Given the description of an element on the screen output the (x, y) to click on. 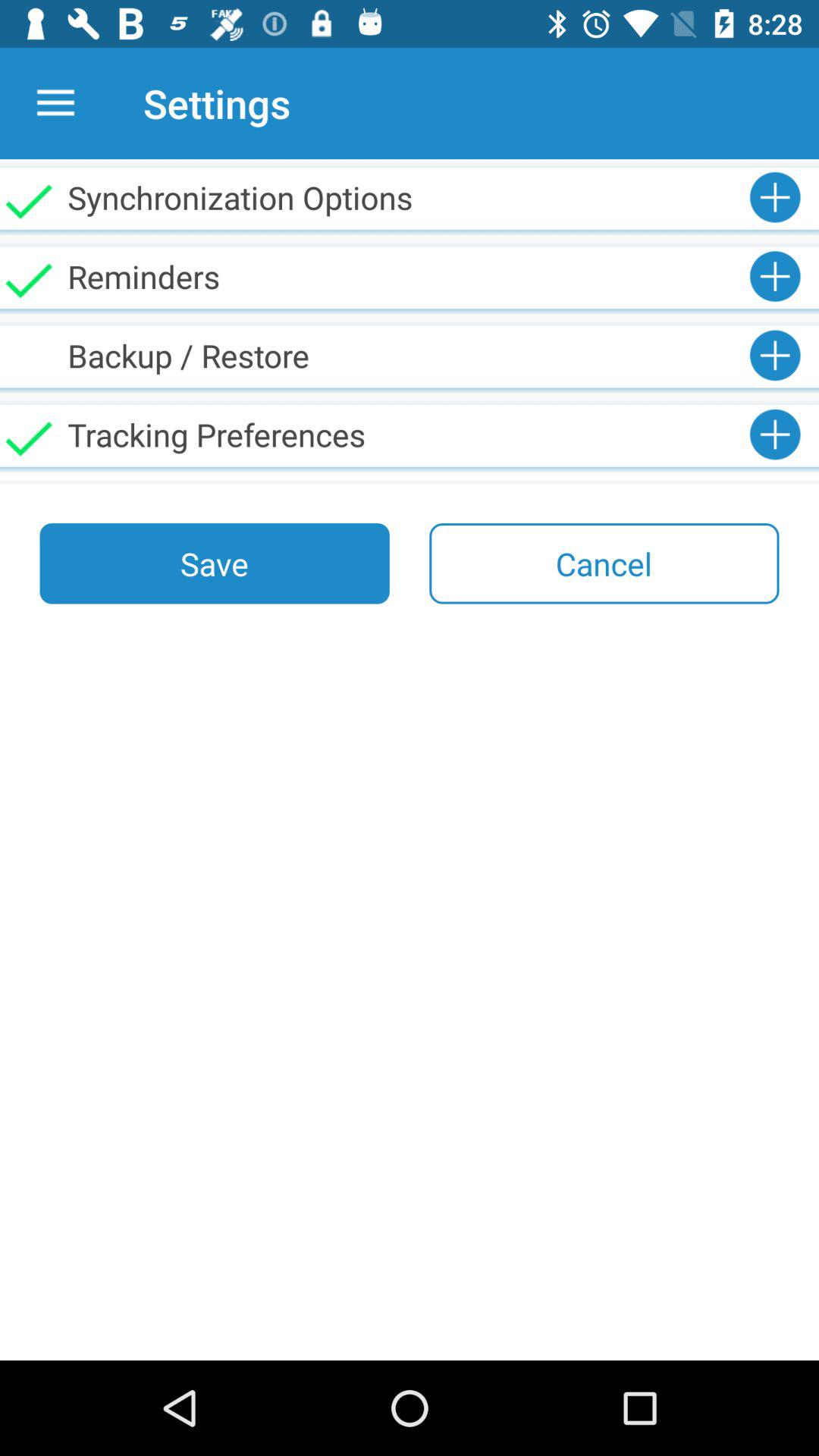
open menu (55, 103)
